Given the description of an element on the screen output the (x, y) to click on. 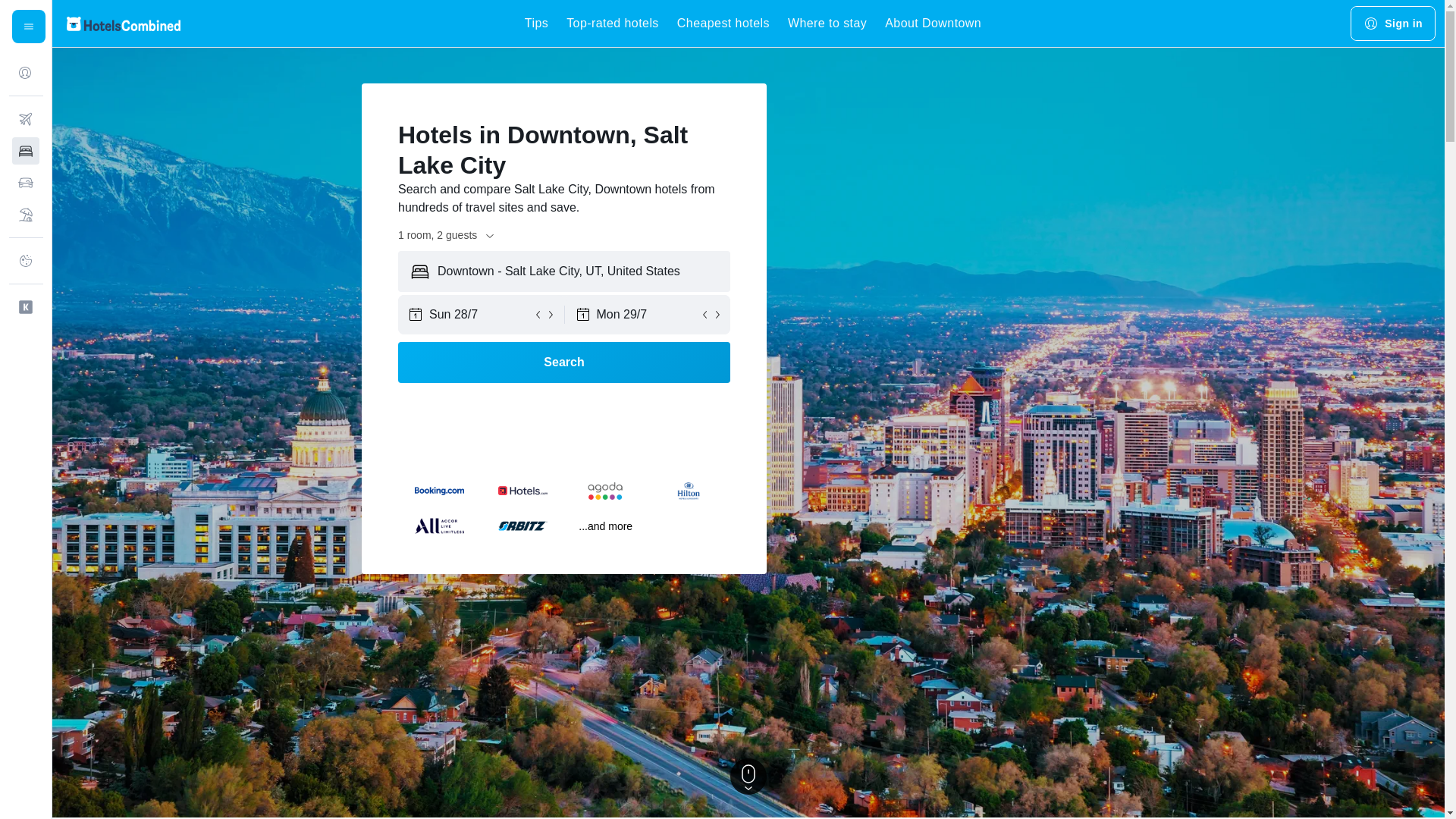
Search (563, 362)
1 room, 2 guests (446, 235)
Search (563, 362)
